Given the description of an element on the screen output the (x, y) to click on. 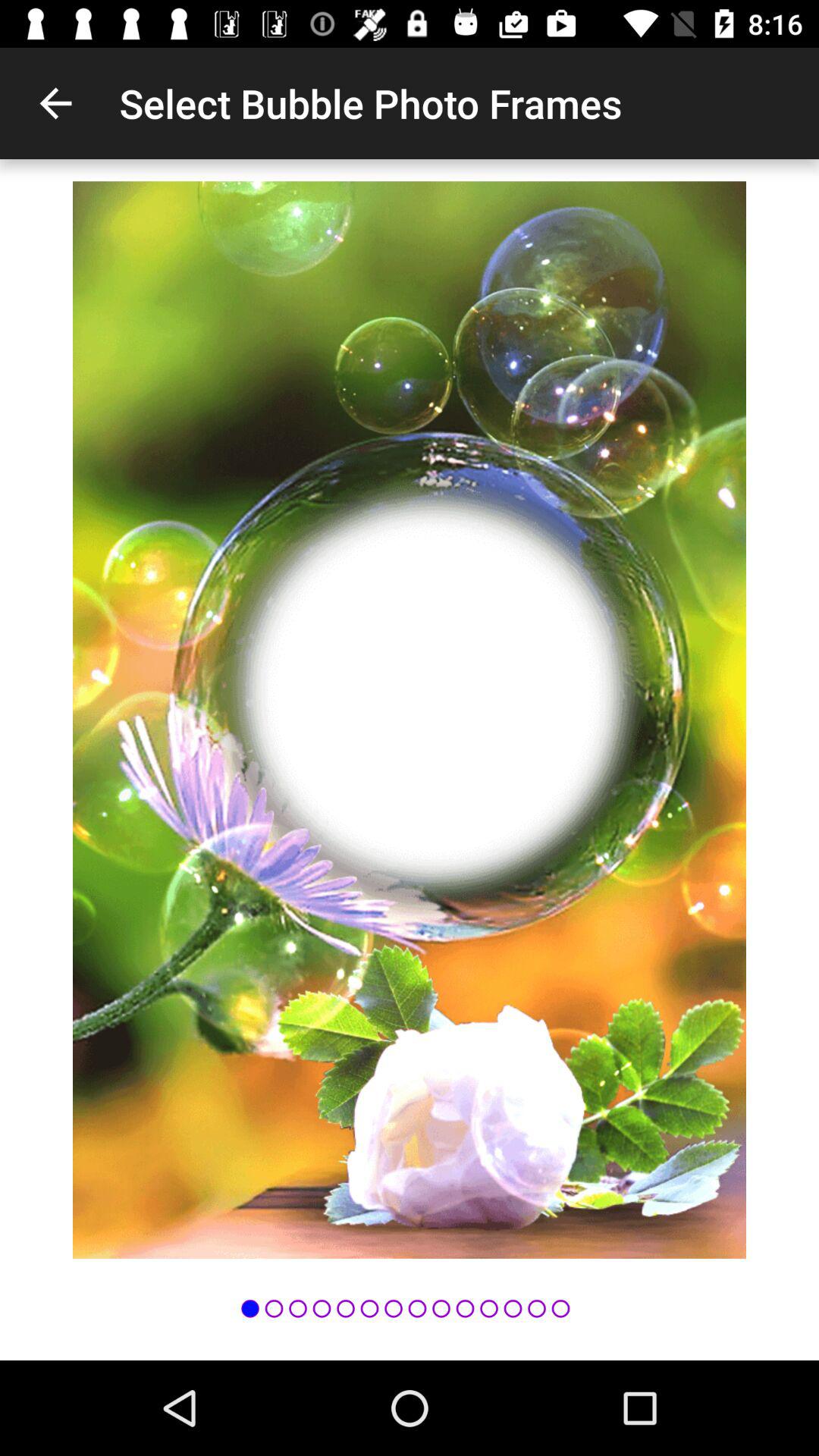
press the icon at the top left corner (55, 103)
